Given the description of an element on the screen output the (x, y) to click on. 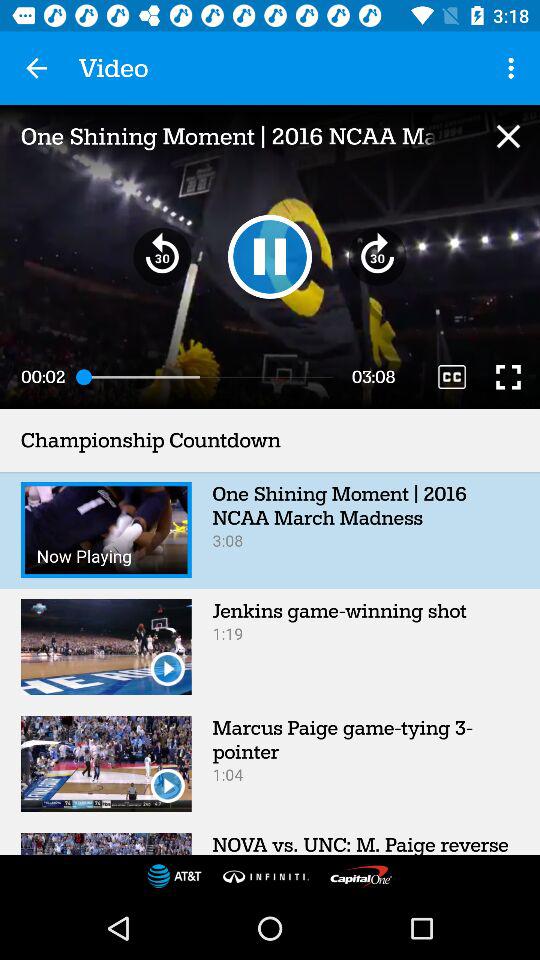
forwarded (377, 256)
